Given the description of an element on the screen output the (x, y) to click on. 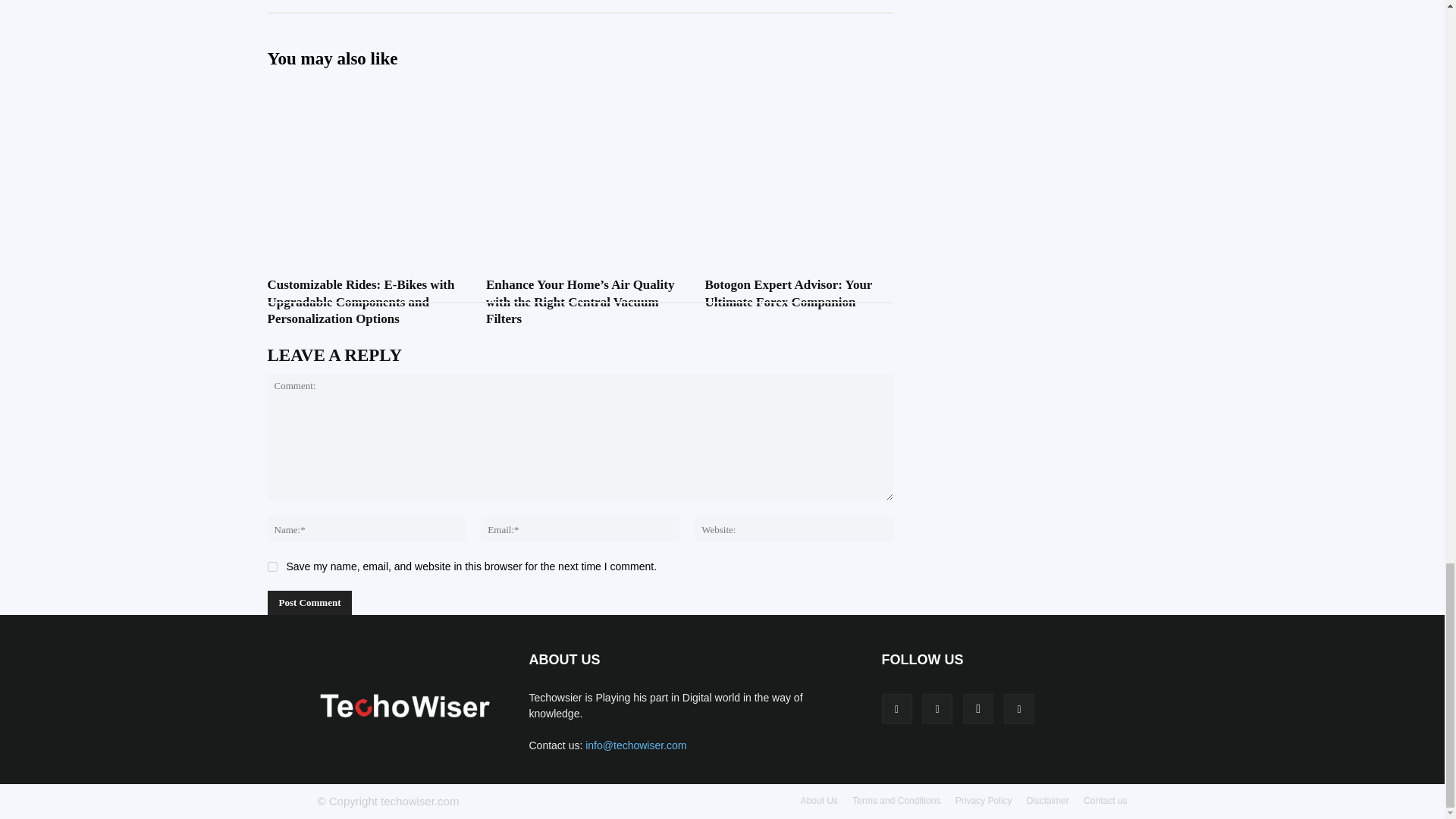
Botogon Expert Advisor: Your Ultimate Forex Companion (788, 292)
yes (271, 566)
Post Comment (309, 602)
Botogon Expert Advisor: Your Ultimate Forex Companion (798, 150)
